Given the description of an element on the screen output the (x, y) to click on. 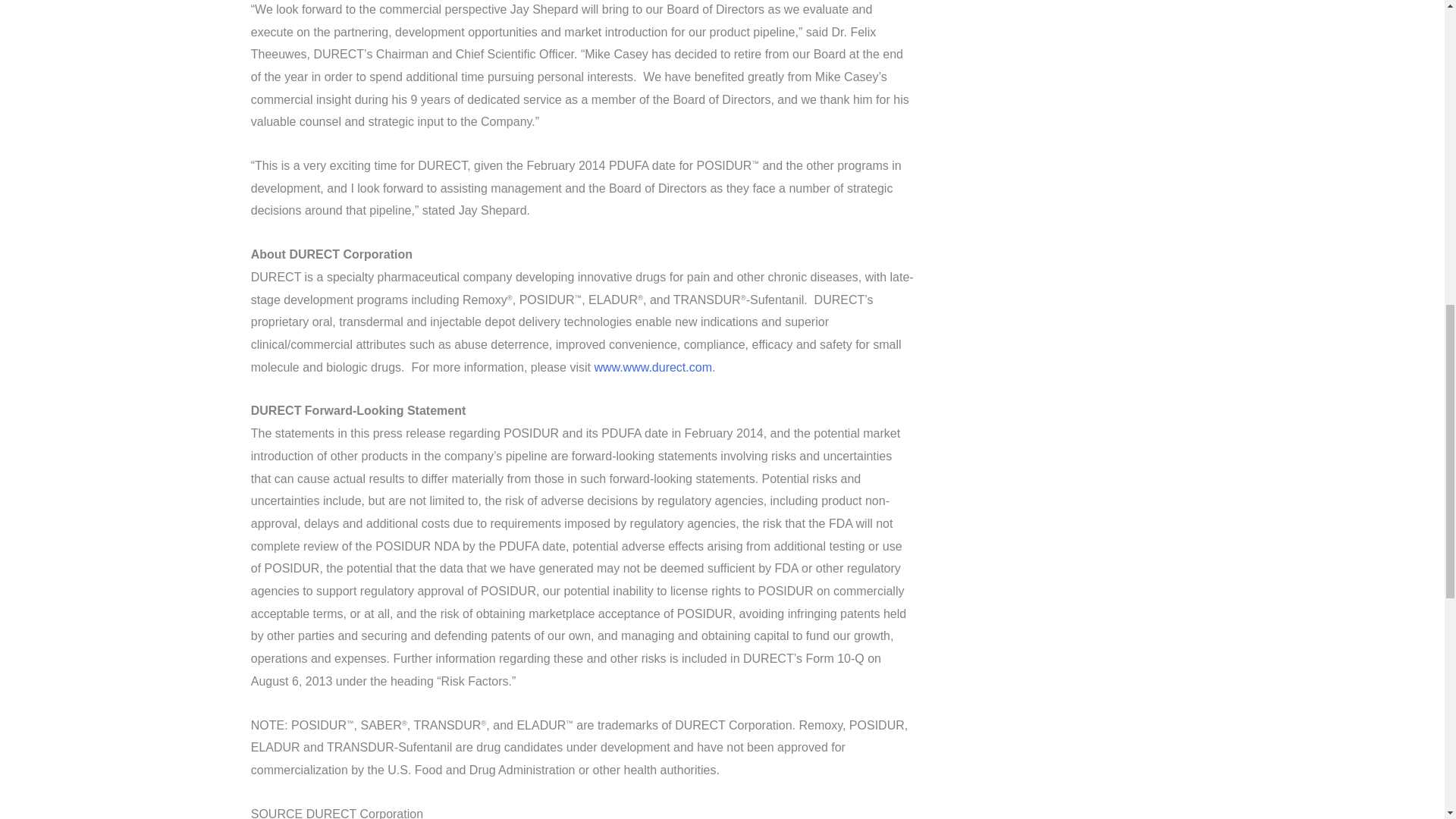
www.www.durect.com (652, 367)
